Given the description of an element on the screen output the (x, y) to click on. 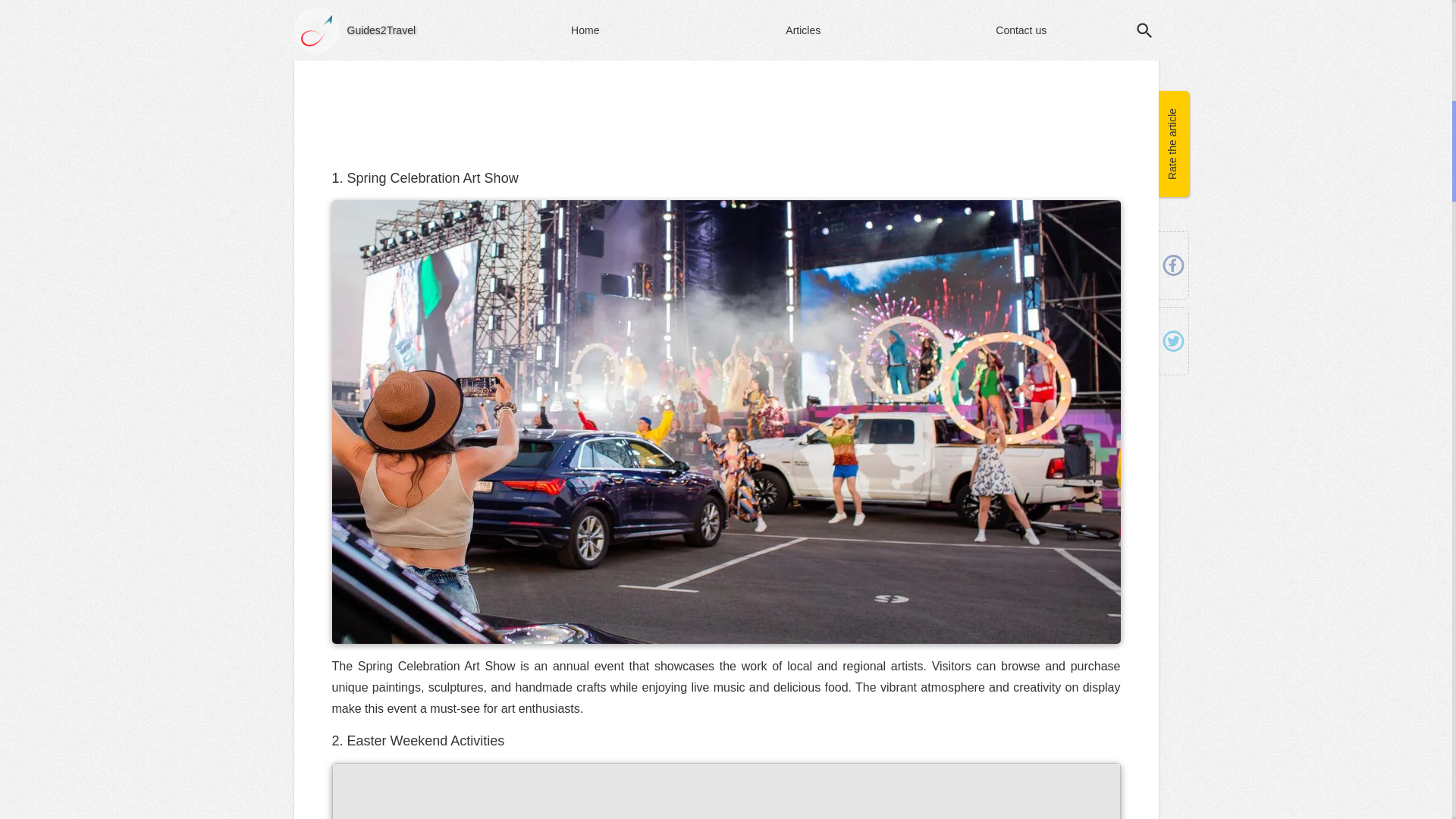
GetYourGuide Widget (726, 100)
Share via tw (1172, 7)
